Given the description of an element on the screen output the (x, y) to click on. 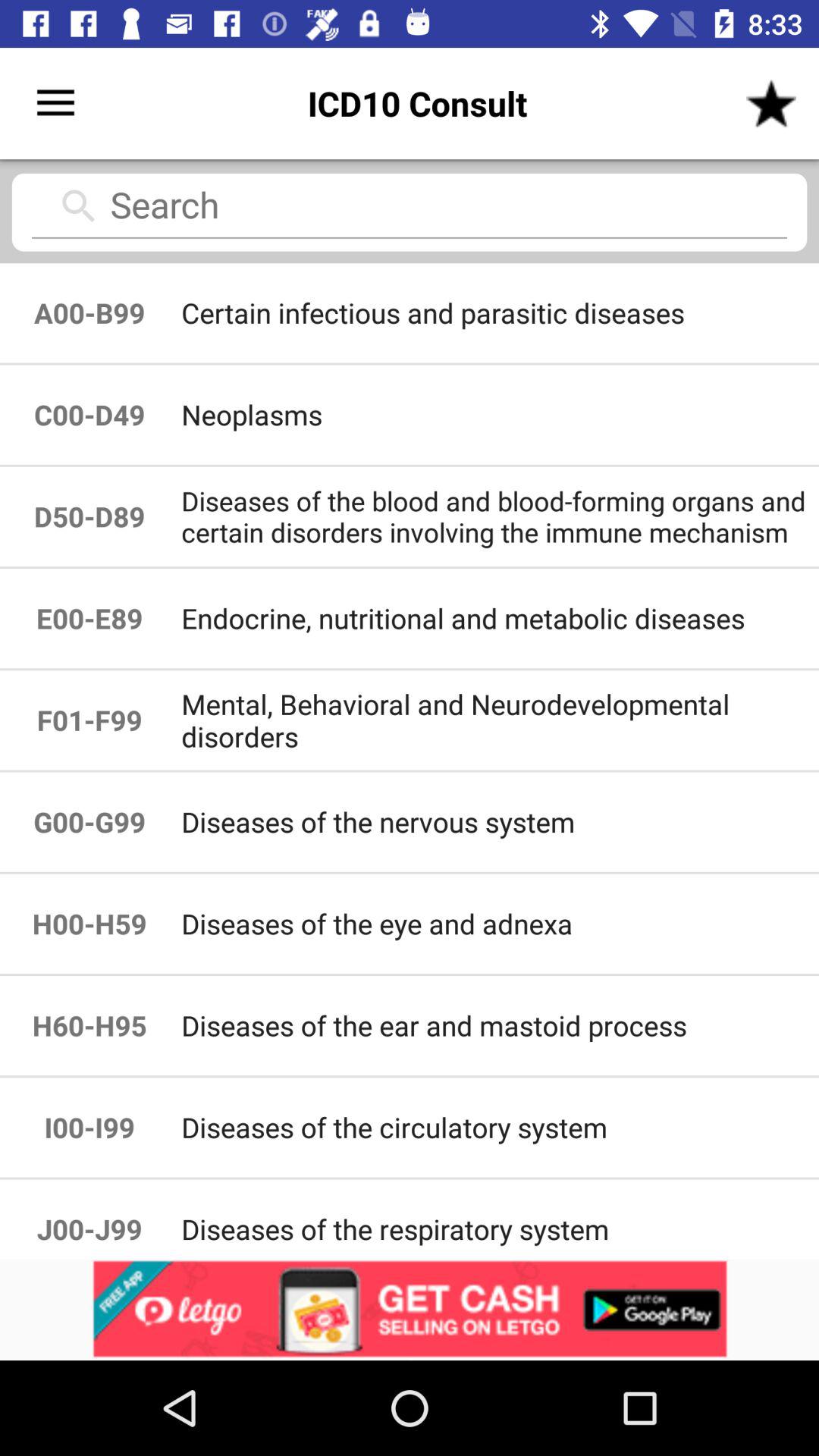
click the icon to the left of diseases of the icon (89, 1025)
